Given the description of an element on the screen output the (x, y) to click on. 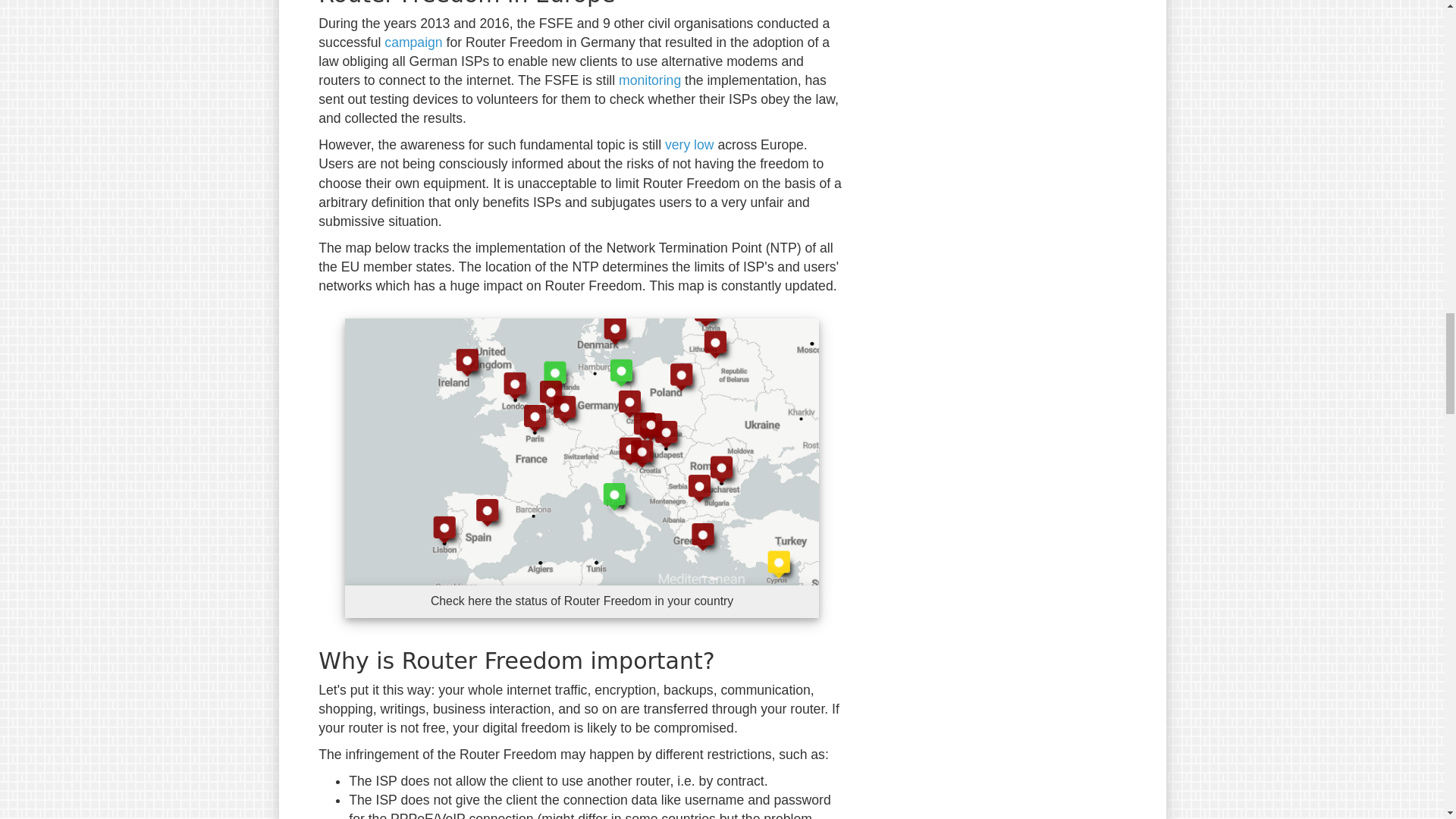
very low (689, 144)
monitoring (649, 79)
campaign (413, 42)
